Given the description of an element on the screen output the (x, y) to click on. 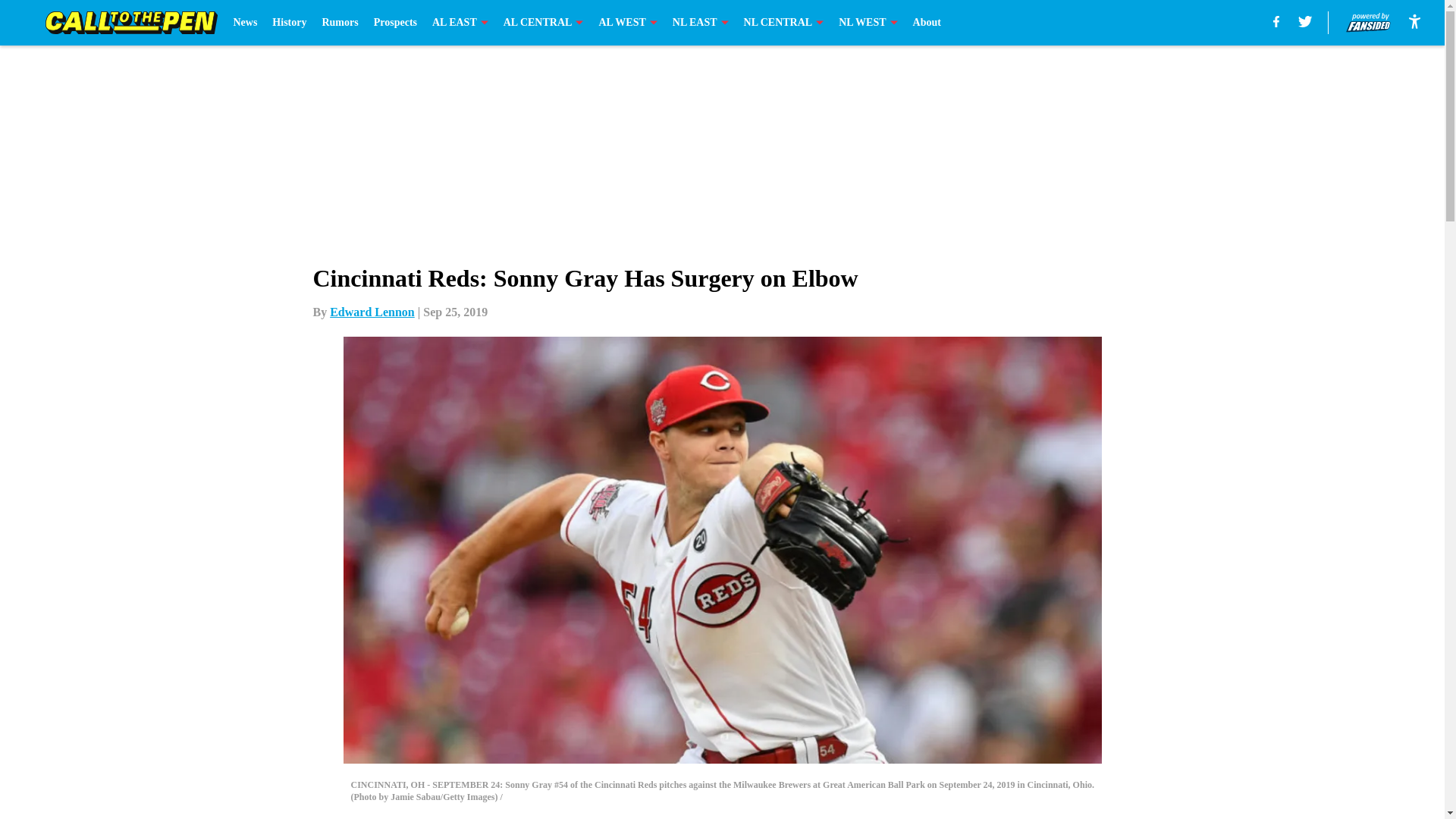
News (244, 22)
Rumors (339, 22)
Prospects (395, 22)
History (288, 22)
